Given the description of an element on the screen output the (x, y) to click on. 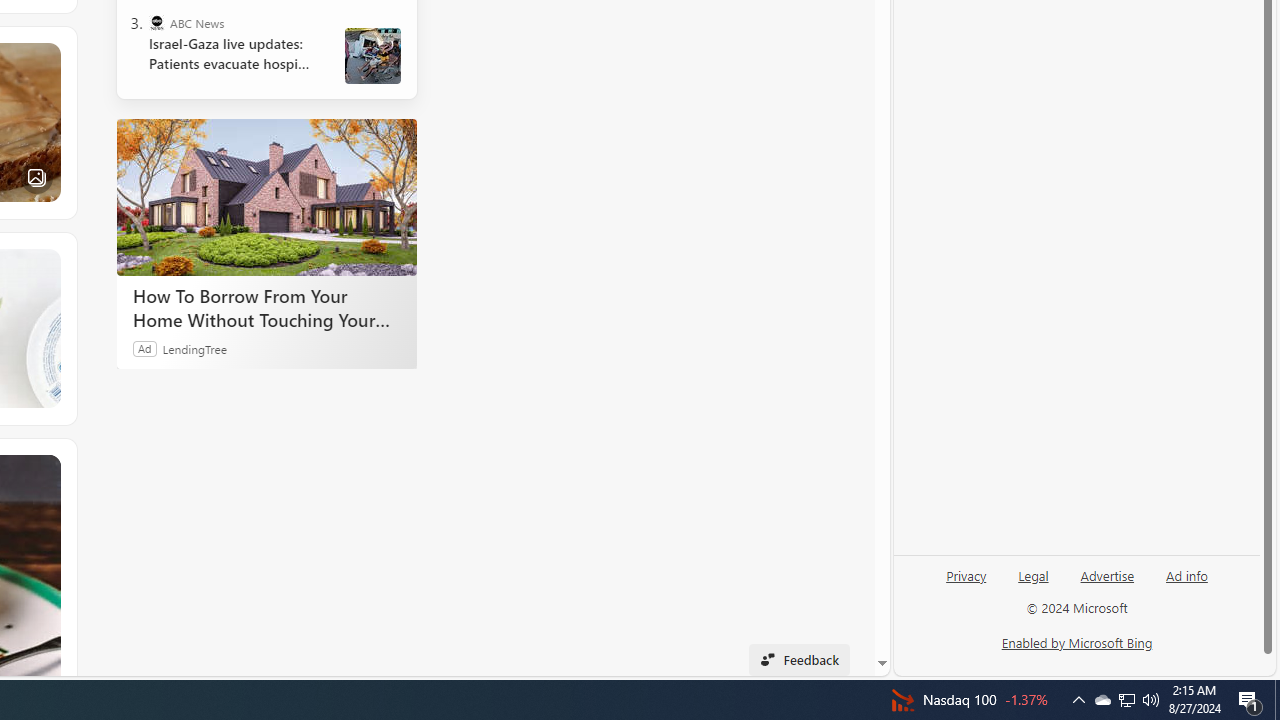
Ad info (1187, 574)
ABC News (156, 22)
LendingTree (194, 348)
